Given the description of an element on the screen output the (x, y) to click on. 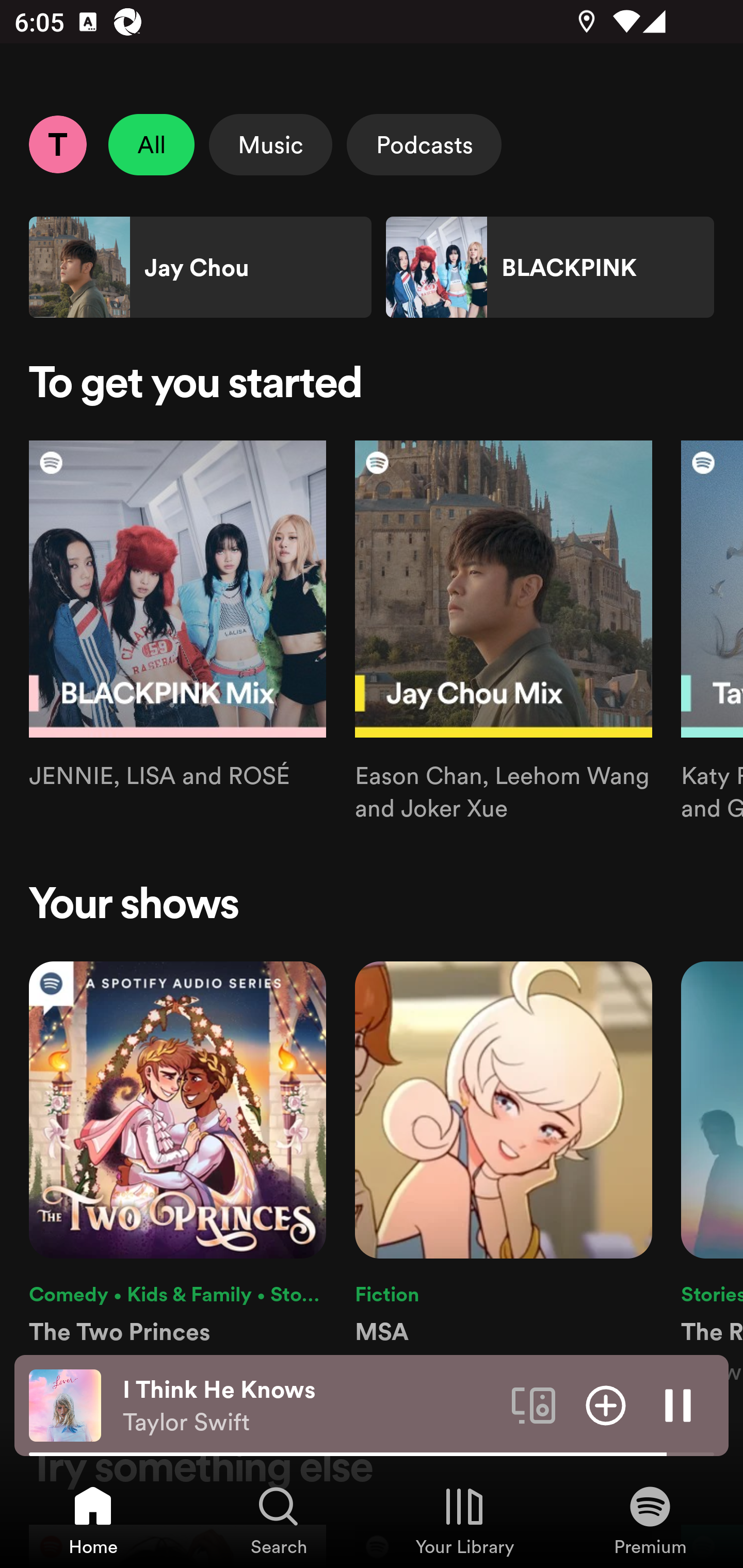
Profile (57, 144)
All Unselect All (151, 144)
Music Select Music (270, 144)
Podcasts Select Podcasts (423, 144)
Jay Chou Shortcut Jay Chou (199, 267)
BLACKPINK Shortcut BLACKPINK (549, 267)
Fiction MSA  Show • My Story Animated (503, 1174)
I Think He Knows Taylor Swift (309, 1405)
The cover art of the currently playing track (64, 1404)
Connect to a device. Opens the devices menu (533, 1404)
Add item (605, 1404)
Pause (677, 1404)
Home, Tab 1 of 4 Home Home (92, 1519)
Search, Tab 2 of 4 Search Search (278, 1519)
Your Library, Tab 3 of 4 Your Library Your Library (464, 1519)
Premium, Tab 4 of 4 Premium Premium (650, 1519)
